Given the description of an element on the screen output the (x, y) to click on. 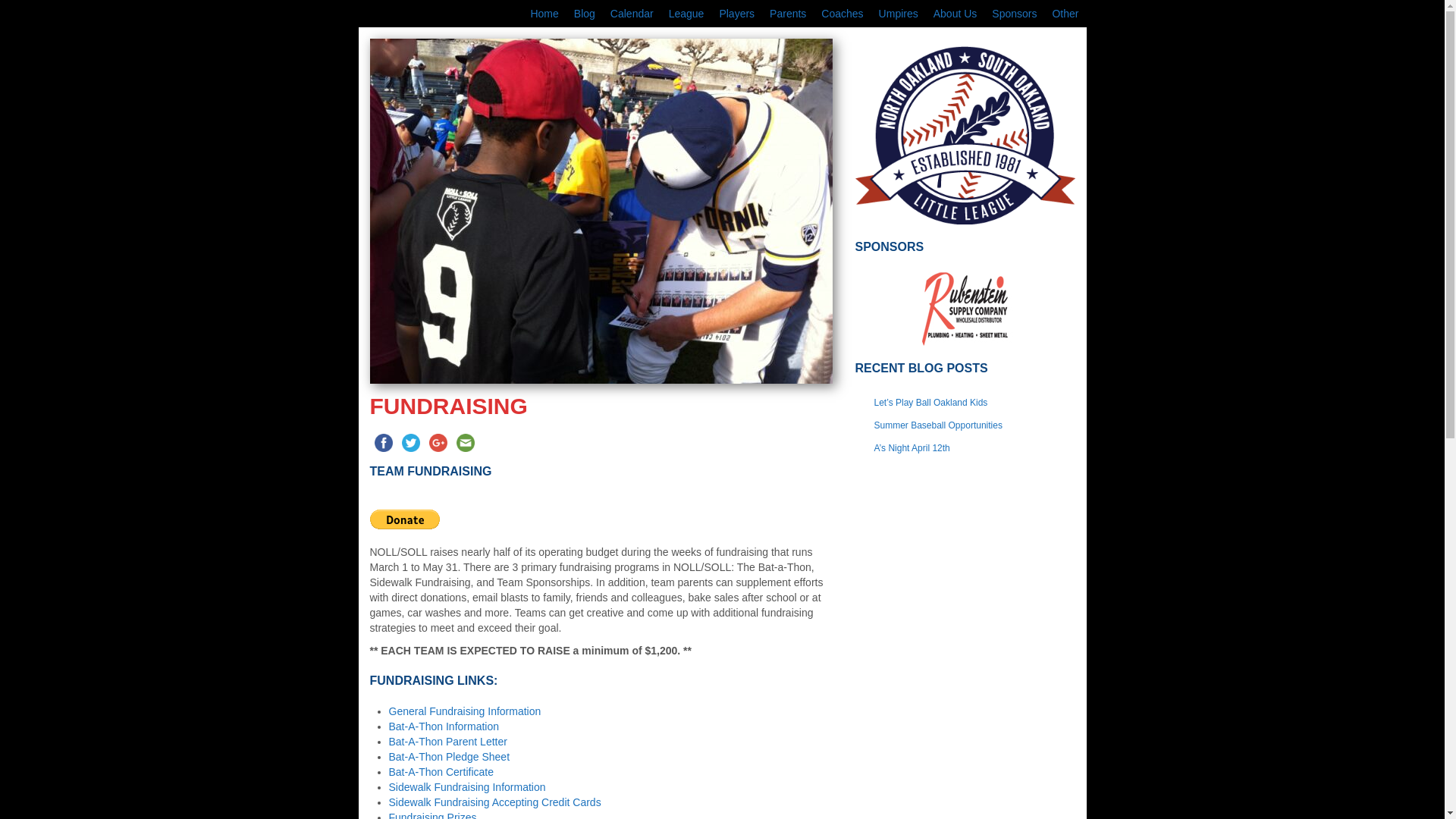
League (686, 13)
email (465, 442)
Calendar (631, 13)
google (438, 442)
Blog (584, 13)
twitter (411, 442)
Players (736, 13)
facebook (383, 442)
Coaches (841, 13)
Home (544, 13)
Parents (787, 13)
